Given the description of an element on the screen output the (x, y) to click on. 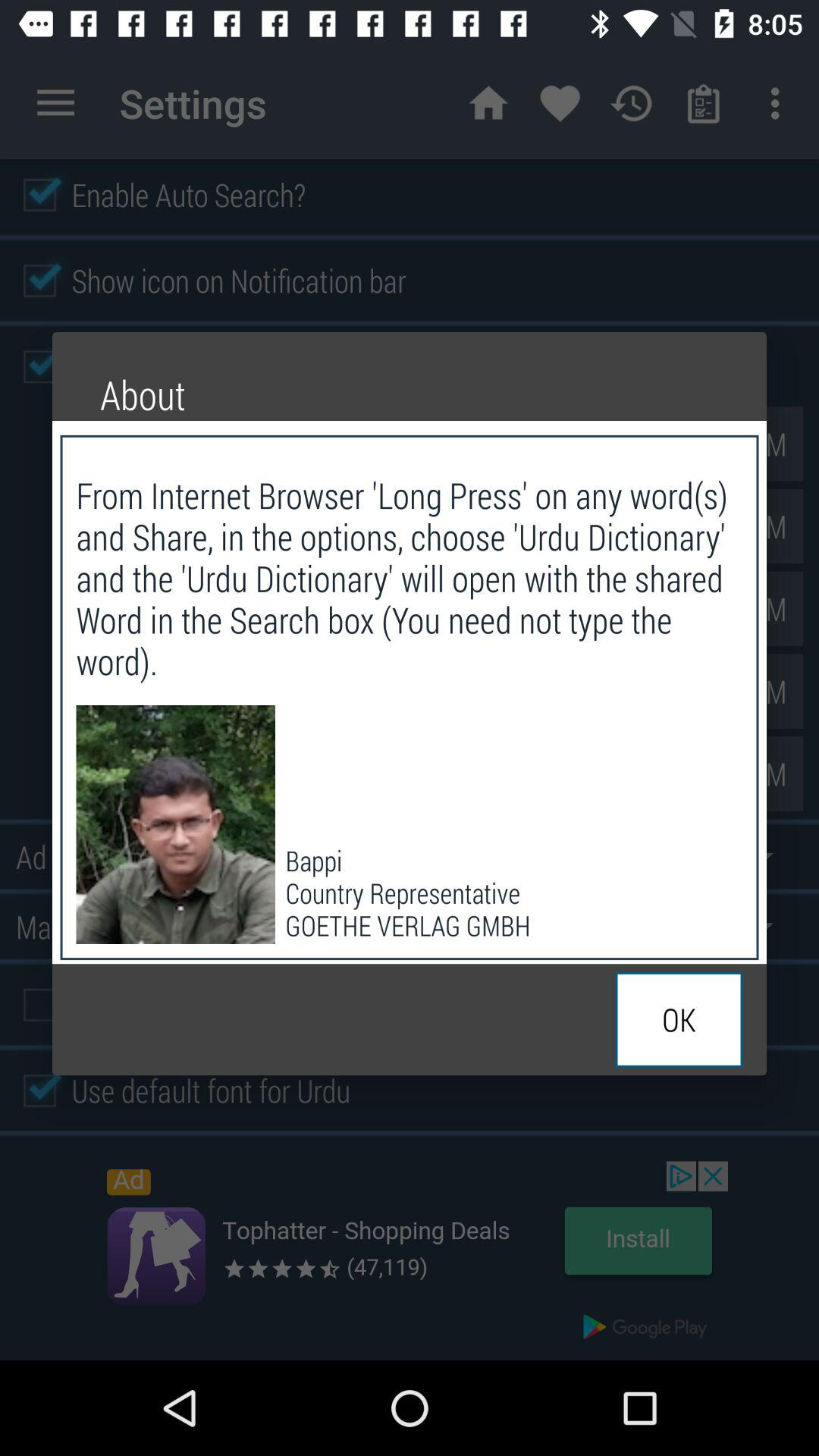
open ok at the bottom right corner (678, 1019)
